Given the description of an element on the screen output the (x, y) to click on. 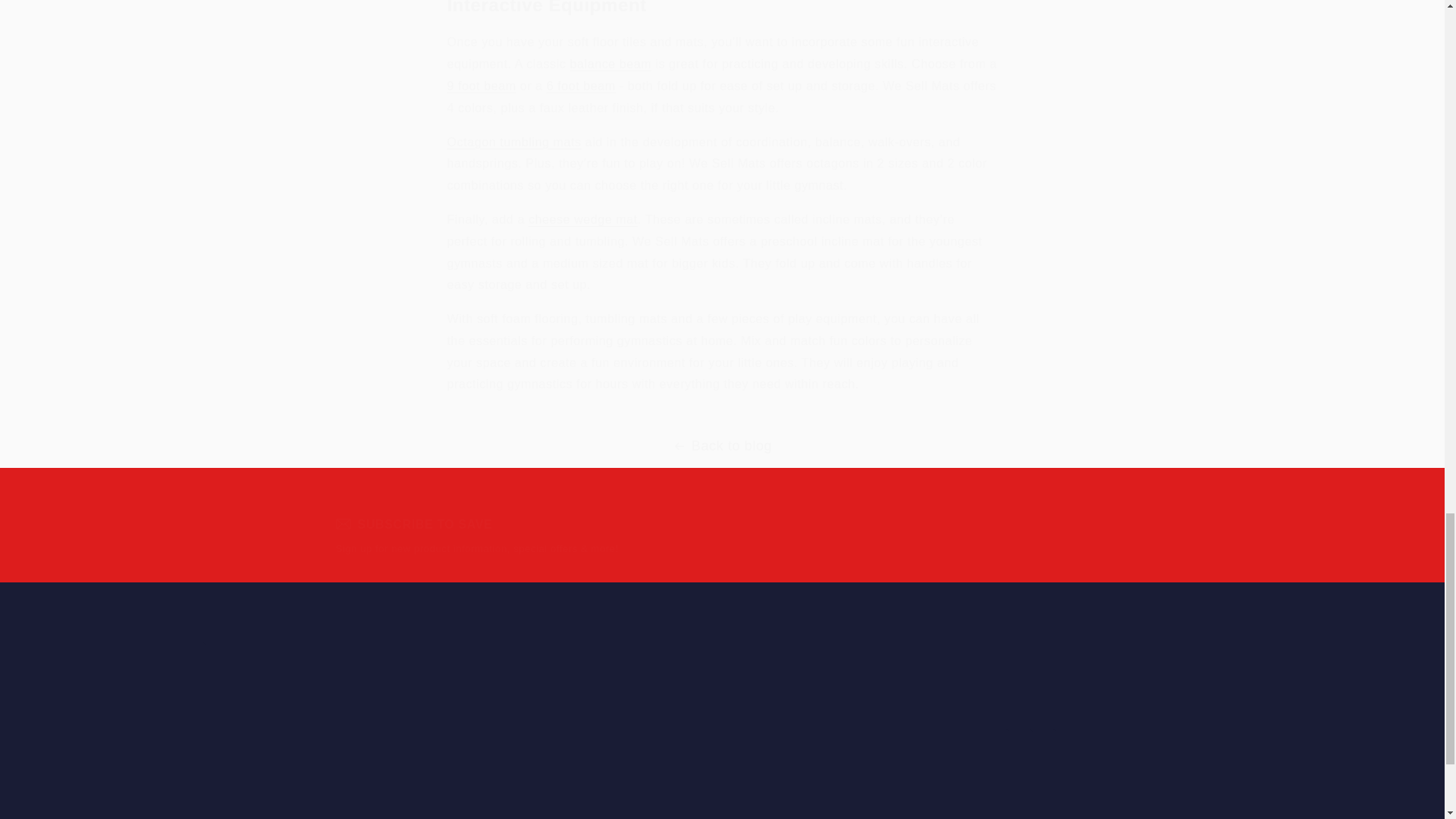
Cheese Wedge Incline Mat (582, 219)
6' Balance Beam (581, 85)
Balance Beams (611, 63)
SUBSCRIBE TO SAVE (528, 523)
9' Balance Beam (481, 85)
Tumbling Octagons (513, 141)
